Given the description of an element on the screen output the (x, y) to click on. 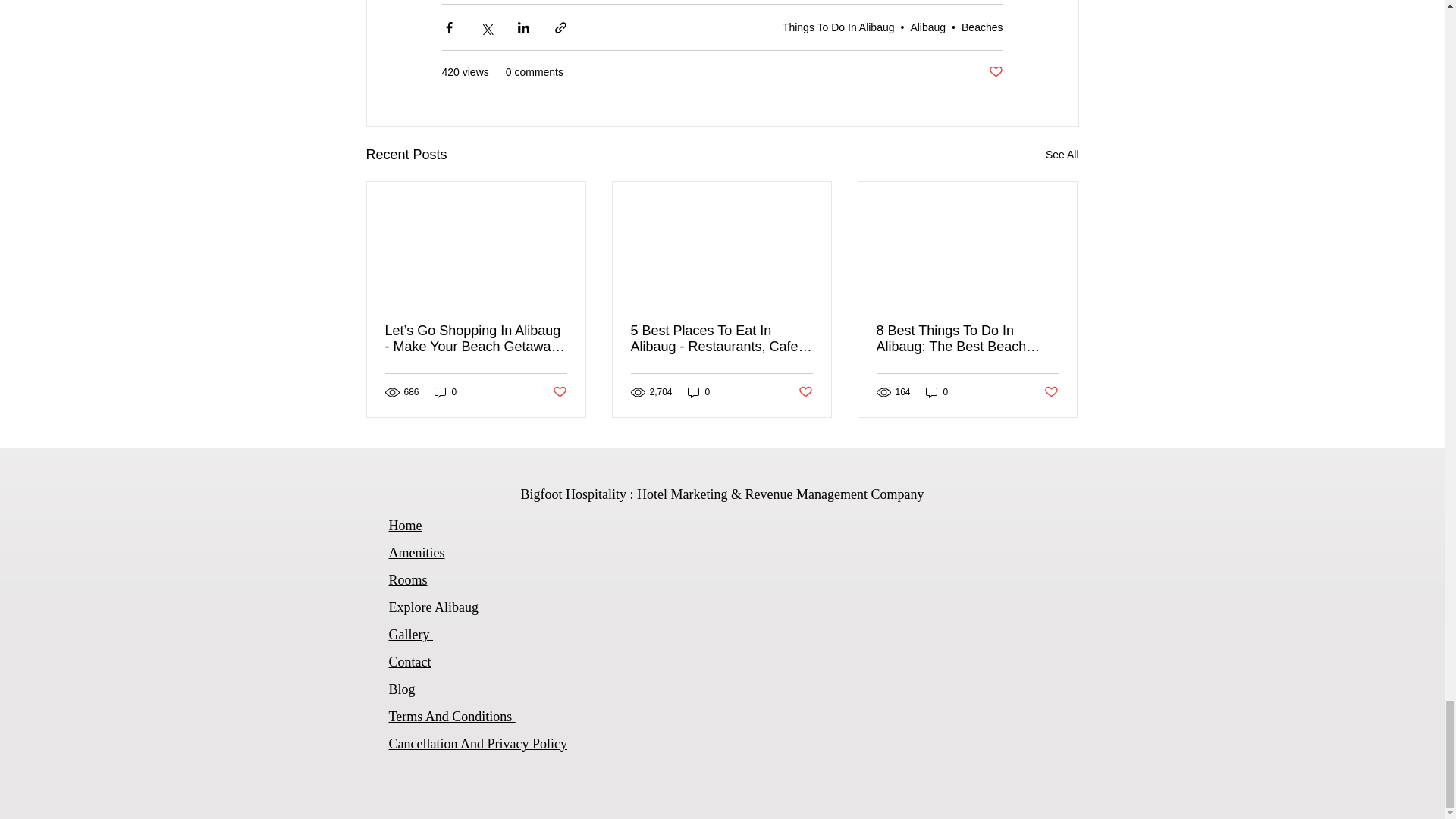
Things To Do In Alibaug (839, 27)
Post not marked as liked (995, 72)
Alibaug (927, 27)
See All (1061, 155)
Beaches (981, 27)
